Given the description of an element on the screen output the (x, y) to click on. 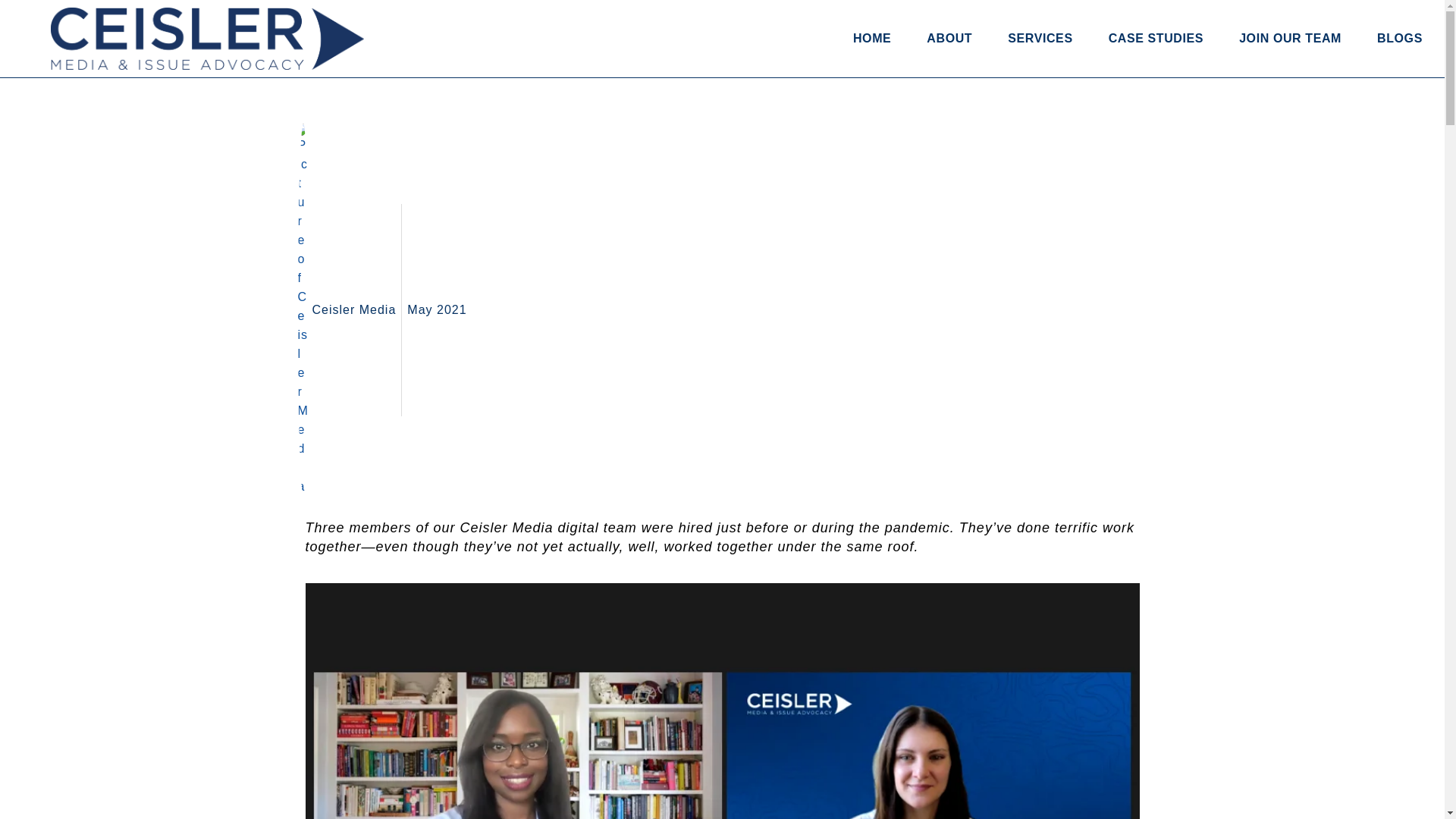
HOME (872, 38)
SERVICES (1039, 38)
CASE STUDIES (1156, 38)
ABOUT (949, 38)
BLOGS (1399, 38)
JOIN OUR TEAM (1289, 38)
